Given the description of an element on the screen output the (x, y) to click on. 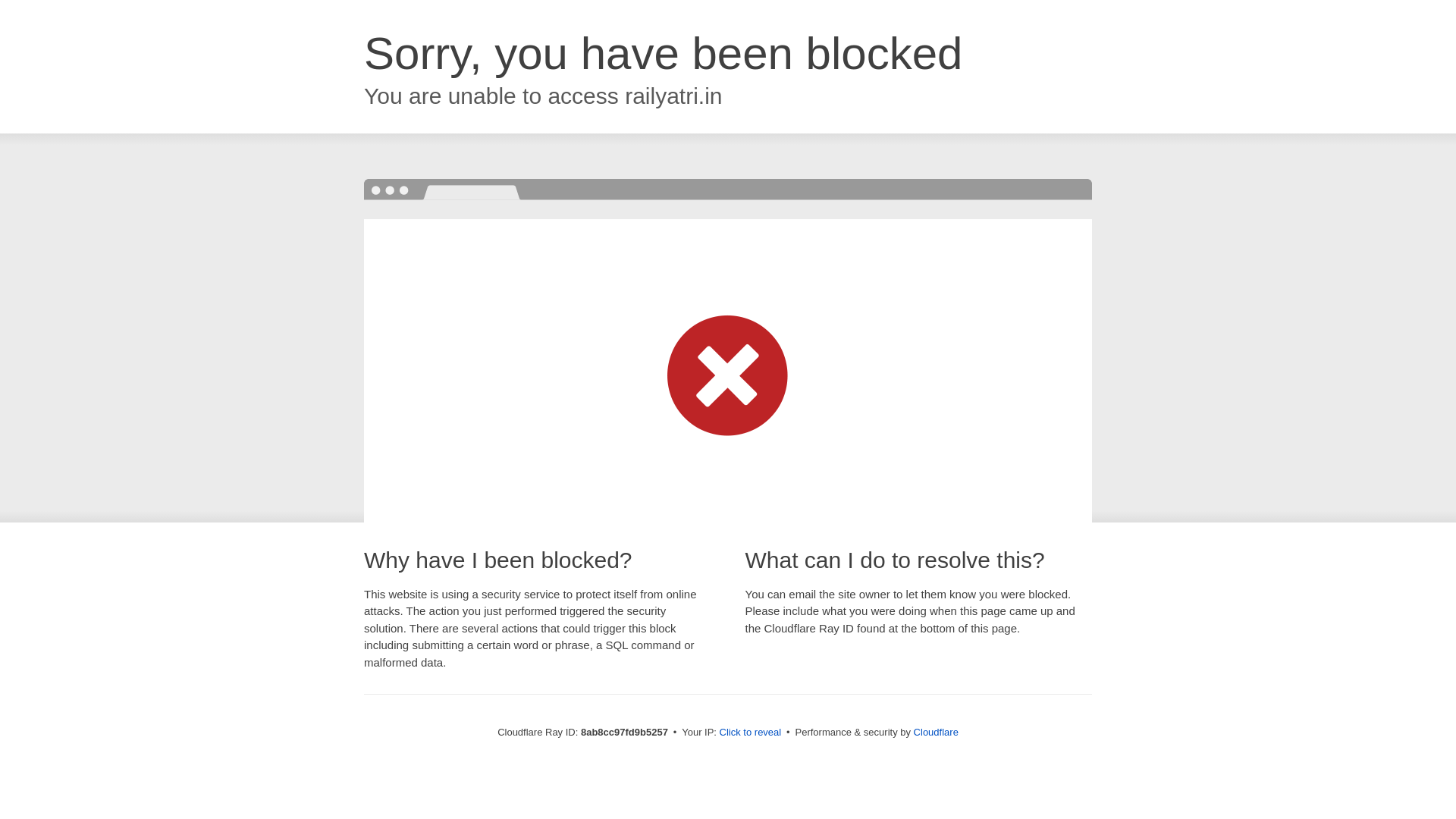
Cloudflare (936, 731)
Click to reveal (750, 732)
